Given the description of an element on the screen output the (x, y) to click on. 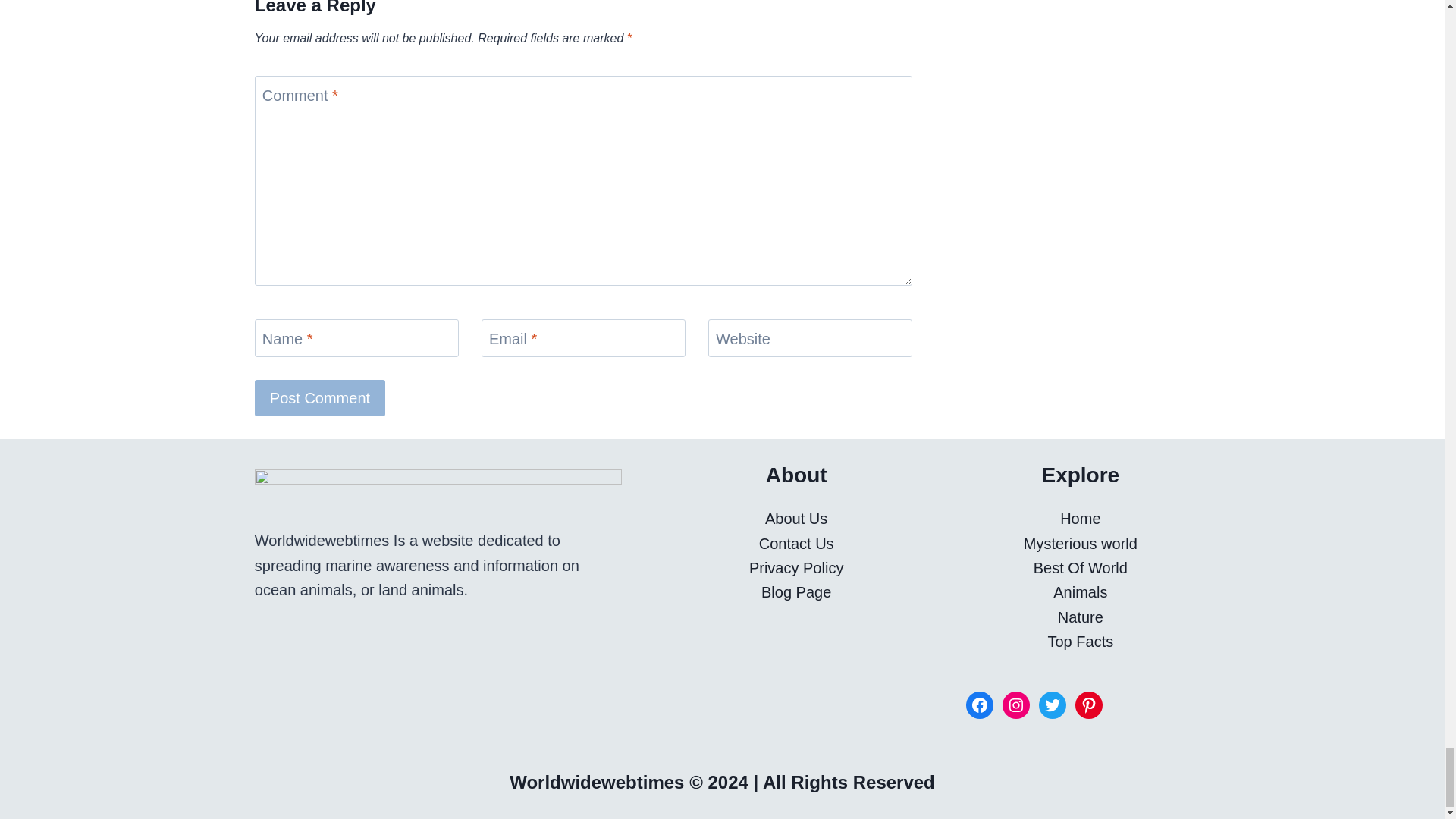
Post Comment (319, 398)
